Given the description of an element on the screen output the (x, y) to click on. 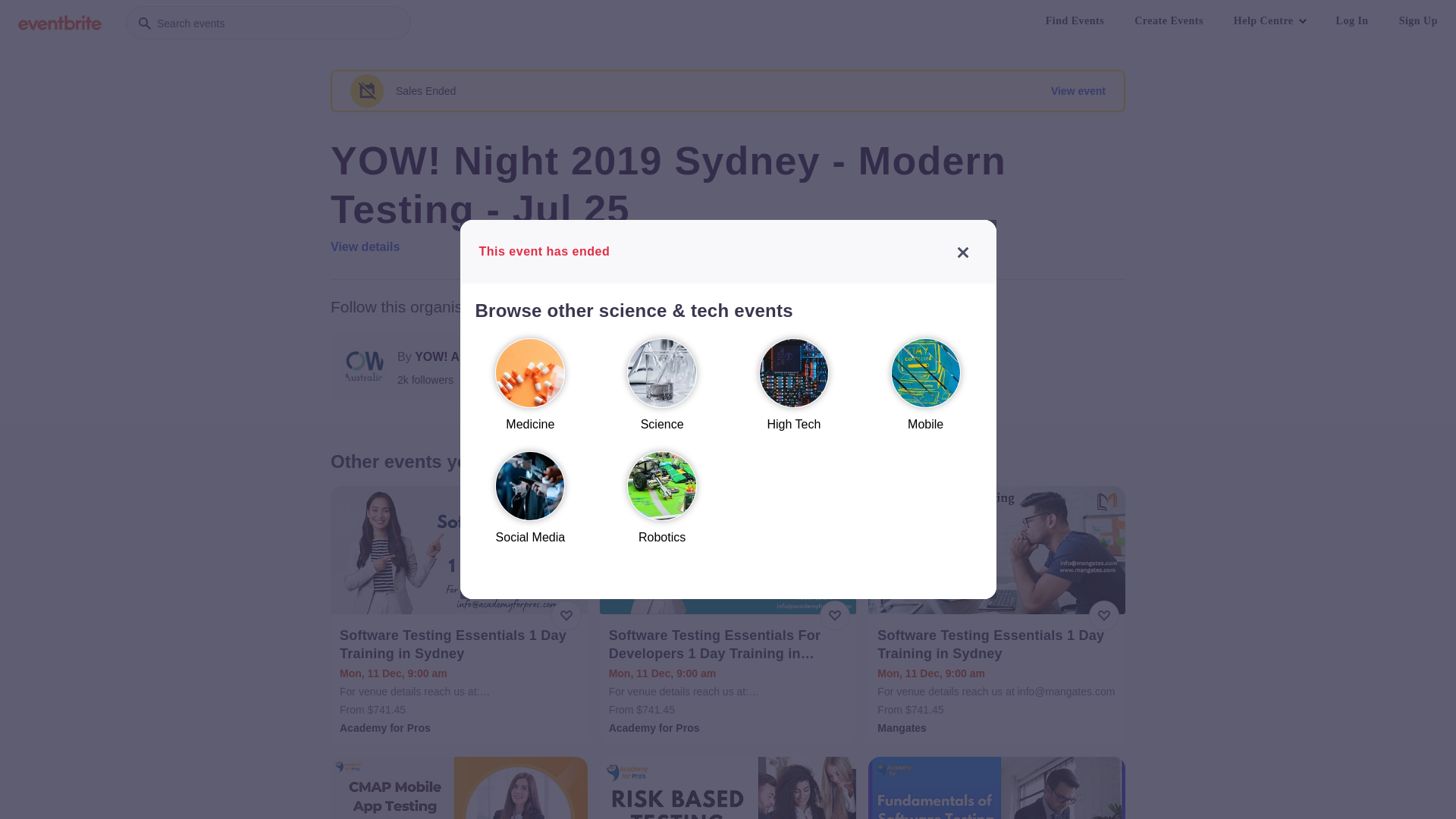
Create Events Element type: text (1168, 21)
Software Testing Essentials 1 Day Training in Sydney Element type: text (998, 644)
Find Events Element type: text (1074, 21)
Eventbrite Element type: hover (59, 22)
Science Element type: text (661, 391)
Search events Element type: text (268, 22)
Sign Up Element type: text (1417, 21)
View event Element type: text (1078, 90)
Follow Element type: text (721, 367)
Software Testing Essentials 1 Day Training in Sydney Element type: text (460, 644)
Log In Element type: text (1352, 21)
View details Element type: text (364, 246)
Robotics Element type: text (661, 504)
Social Media Element type: text (530, 504)
Medicine Element type: text (530, 391)
Mobile Element type: text (925, 391)
High Tech Element type: text (793, 391)
